Given the description of an element on the screen output the (x, y) to click on. 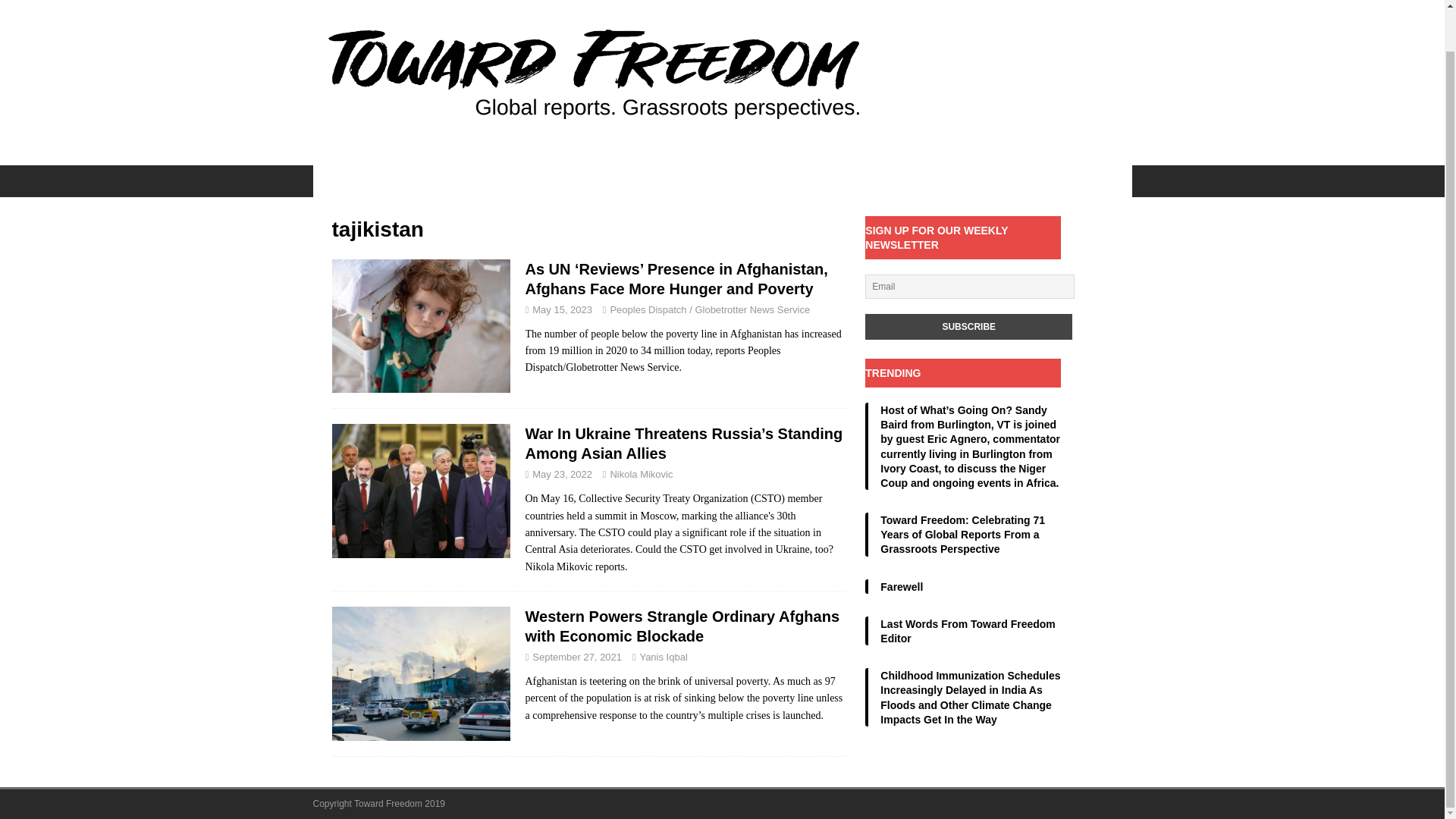
Farewell (901, 586)
AFRICA (493, 181)
EUROPE (711, 181)
ASIA (644, 181)
Subscribe (967, 326)
Nikola Mikovic (641, 473)
OUR INVESTIGATIONS (385, 181)
Subscribe (967, 326)
